Given the description of an element on the screen output the (x, y) to click on. 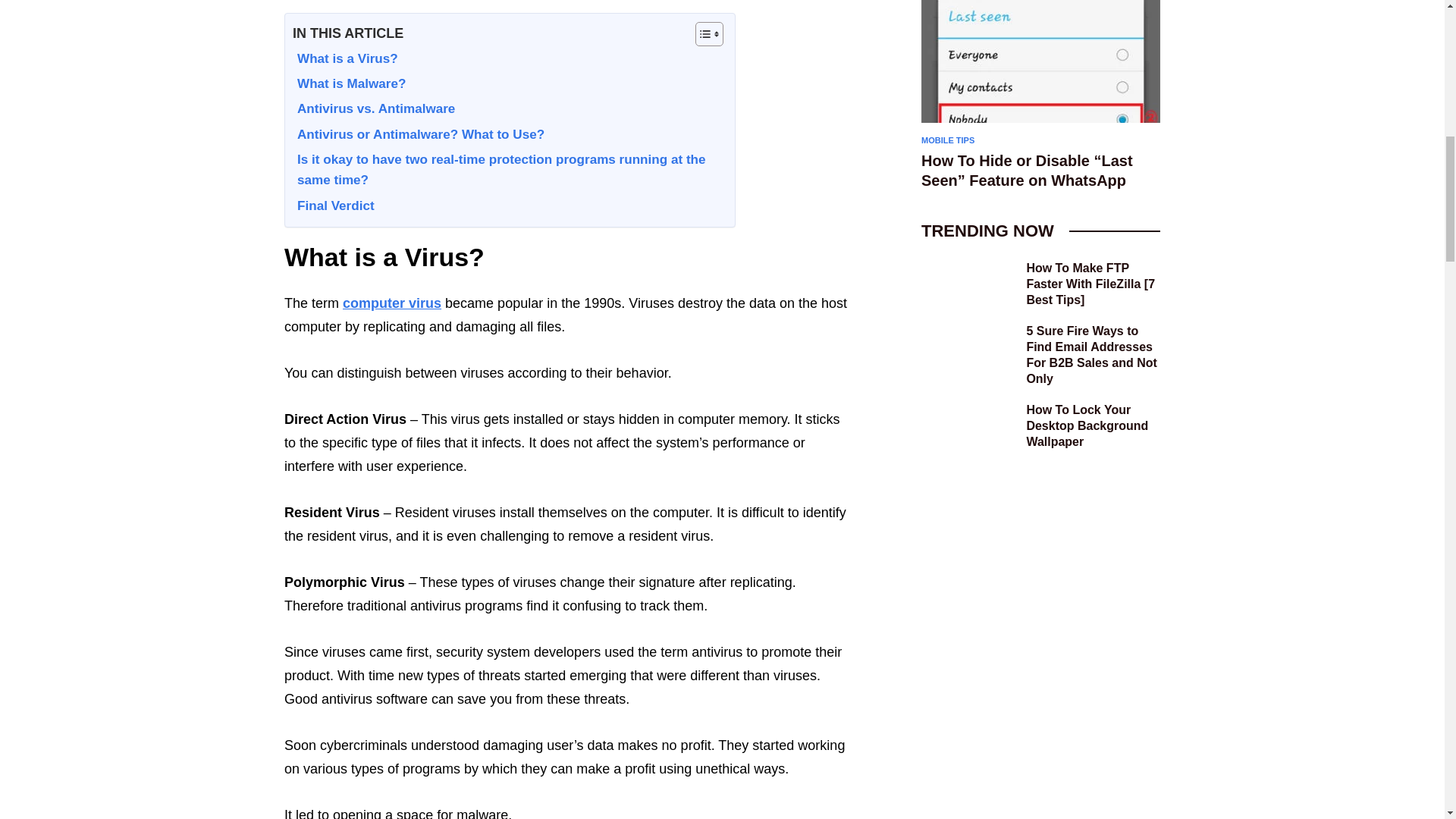
Final Verdict (333, 206)
What is Malware? (349, 84)
What is Malware? (349, 84)
Antivirus or Antimalware? What to Use? (418, 135)
What is a Virus? (344, 59)
What is a Virus? (344, 59)
Antivirus vs. Antimalware (373, 109)
Antivirus vs. Antimalware (373, 109)
